Given the description of an element on the screen output the (x, y) to click on. 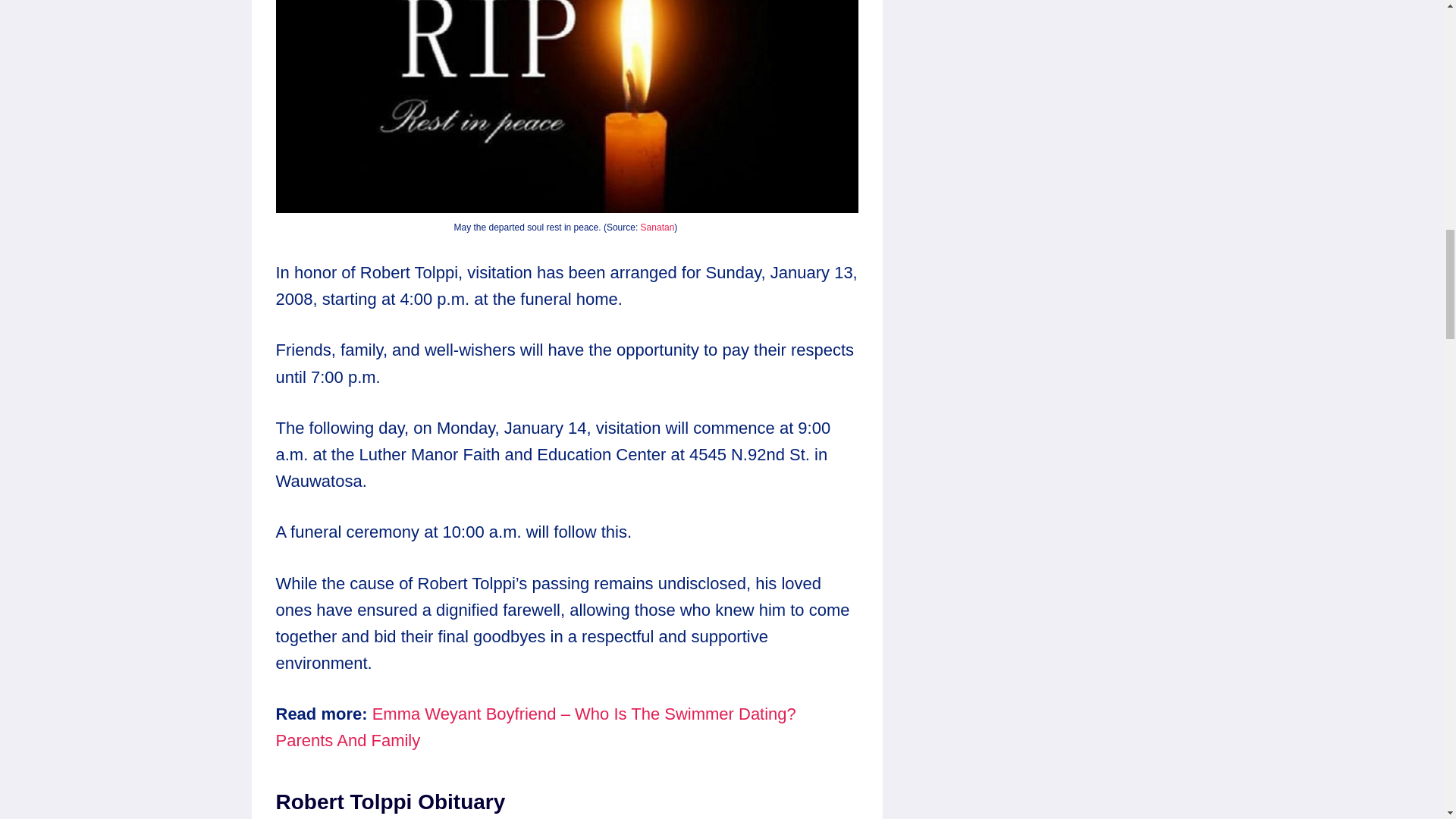
Sanatan (657, 226)
